Given the description of an element on the screen output the (x, y) to click on. 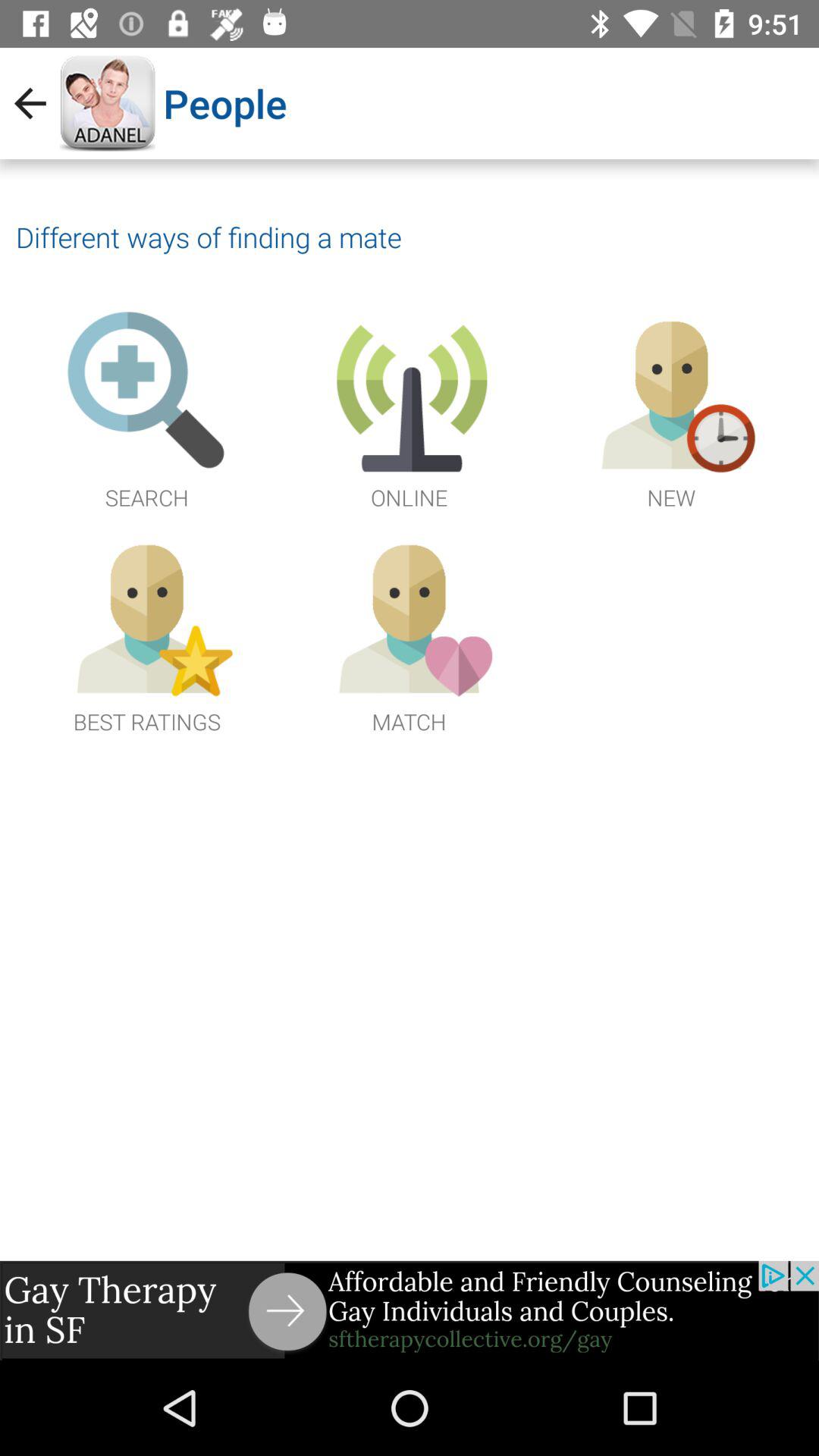
load people ratings (146, 634)
